Given the description of an element on the screen output the (x, y) to click on. 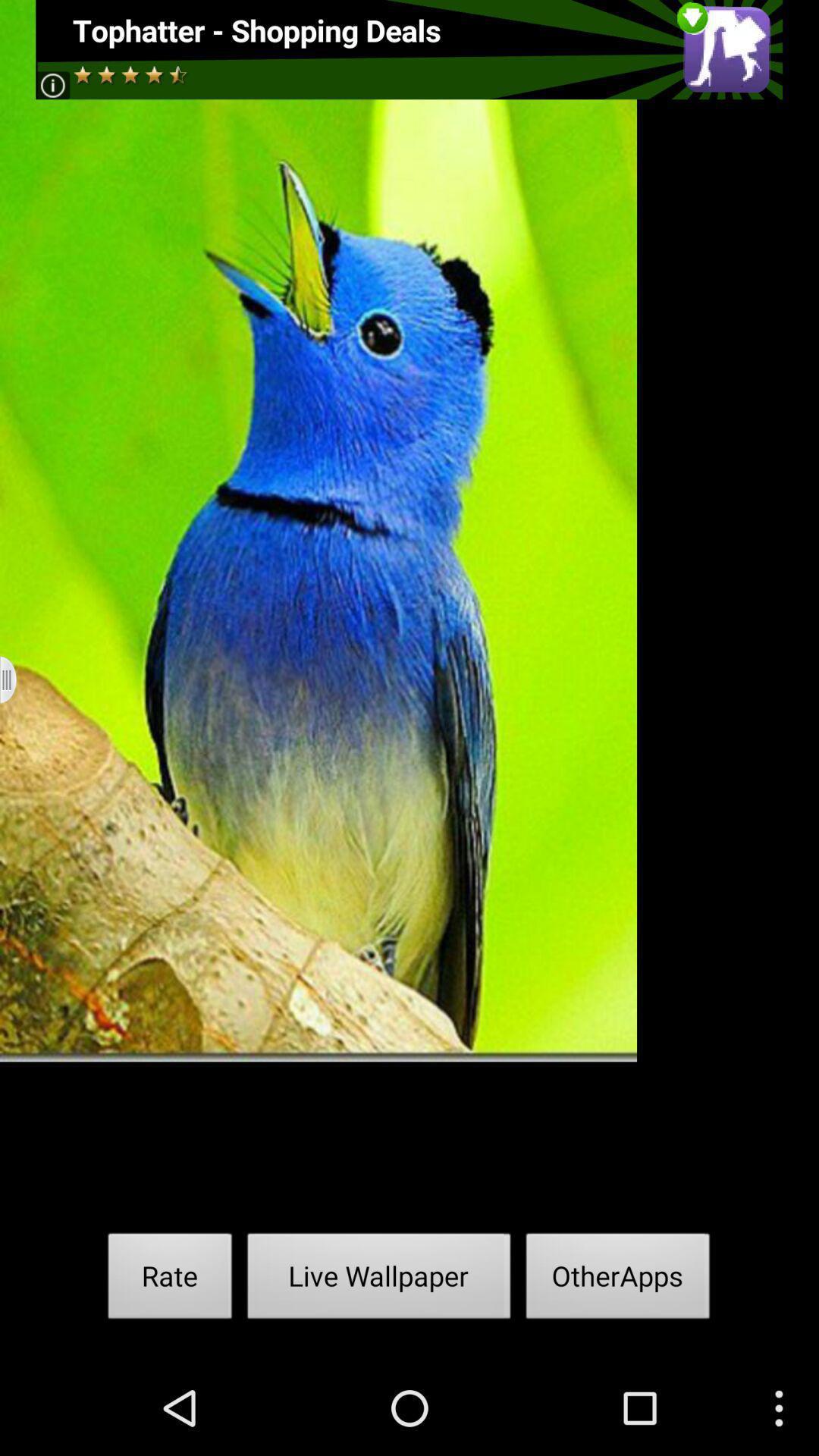
advertisement page (408, 49)
